Given the description of an element on the screen output the (x, y) to click on. 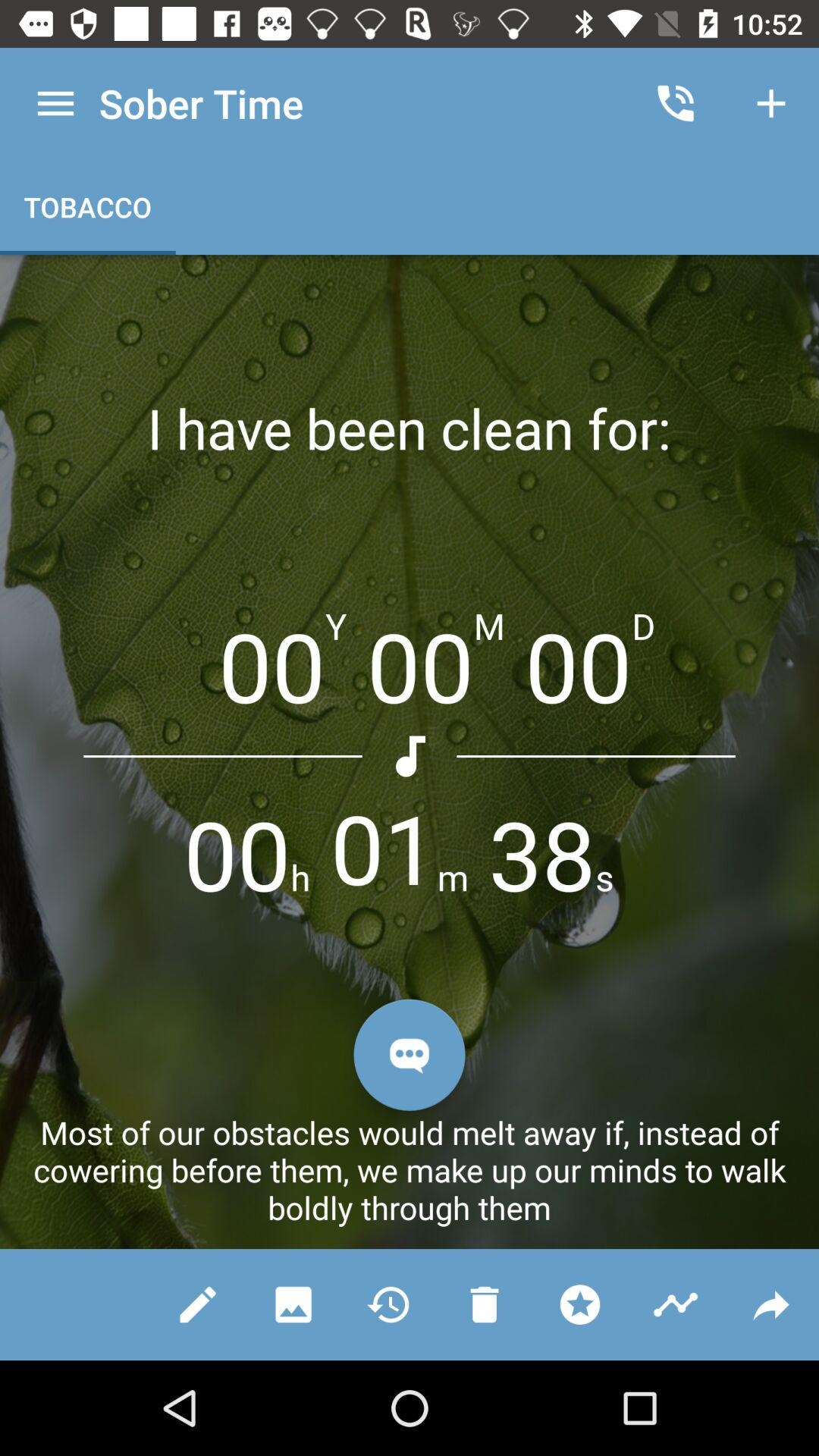
press the icon to the right of the   sober time icon (675, 103)
